Given the description of an element on the screen output the (x, y) to click on. 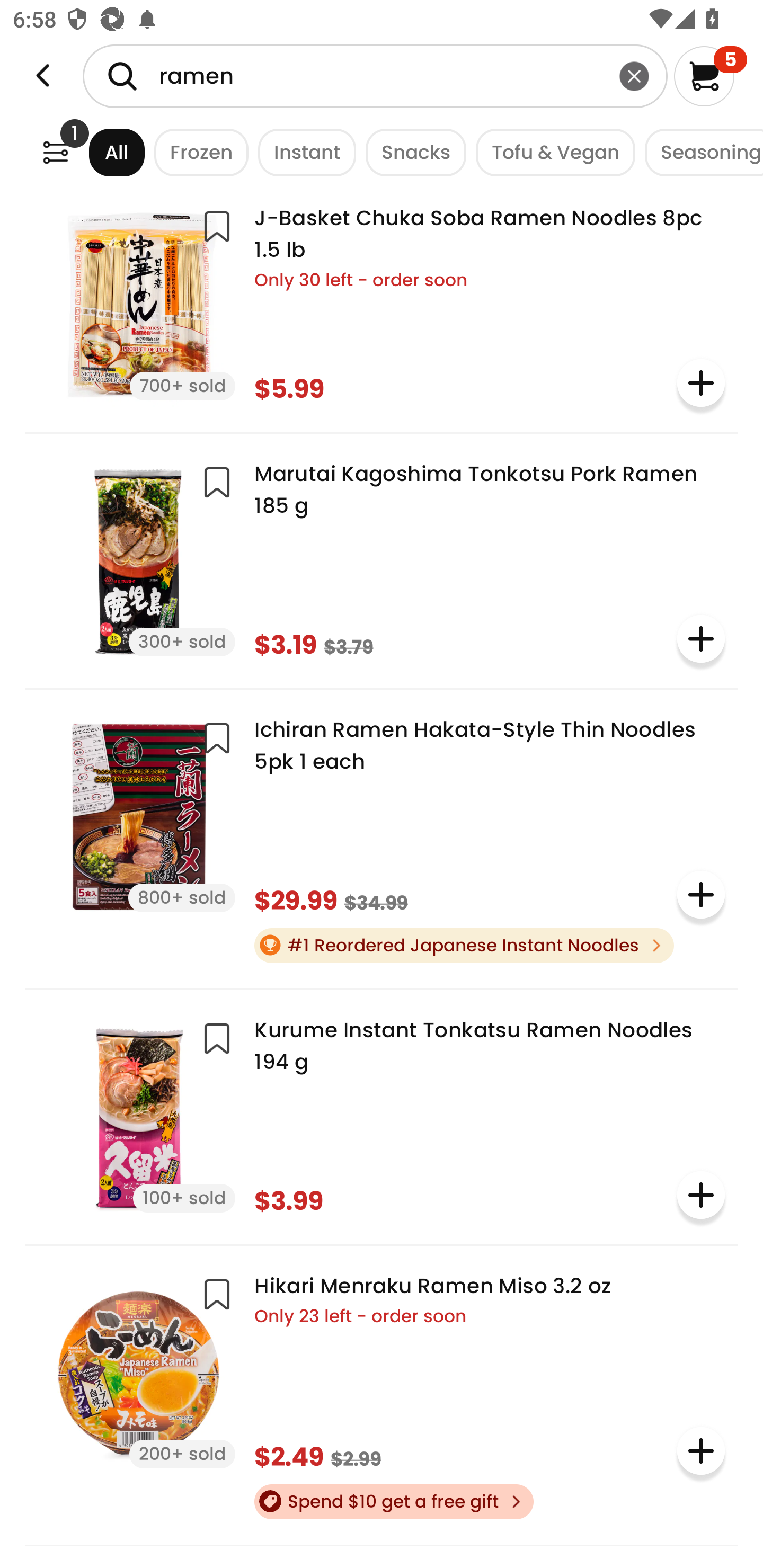
ramen (374, 75)
5 (709, 75)
Weee! (42, 76)
Weee! (55, 151)
All (99, 151)
Frozen (196, 151)
Instant (302, 151)
Snacks (411, 151)
Tofu & Vegan (550, 151)
Seasoning (699, 151)
